Given the description of an element on the screen output the (x, y) to click on. 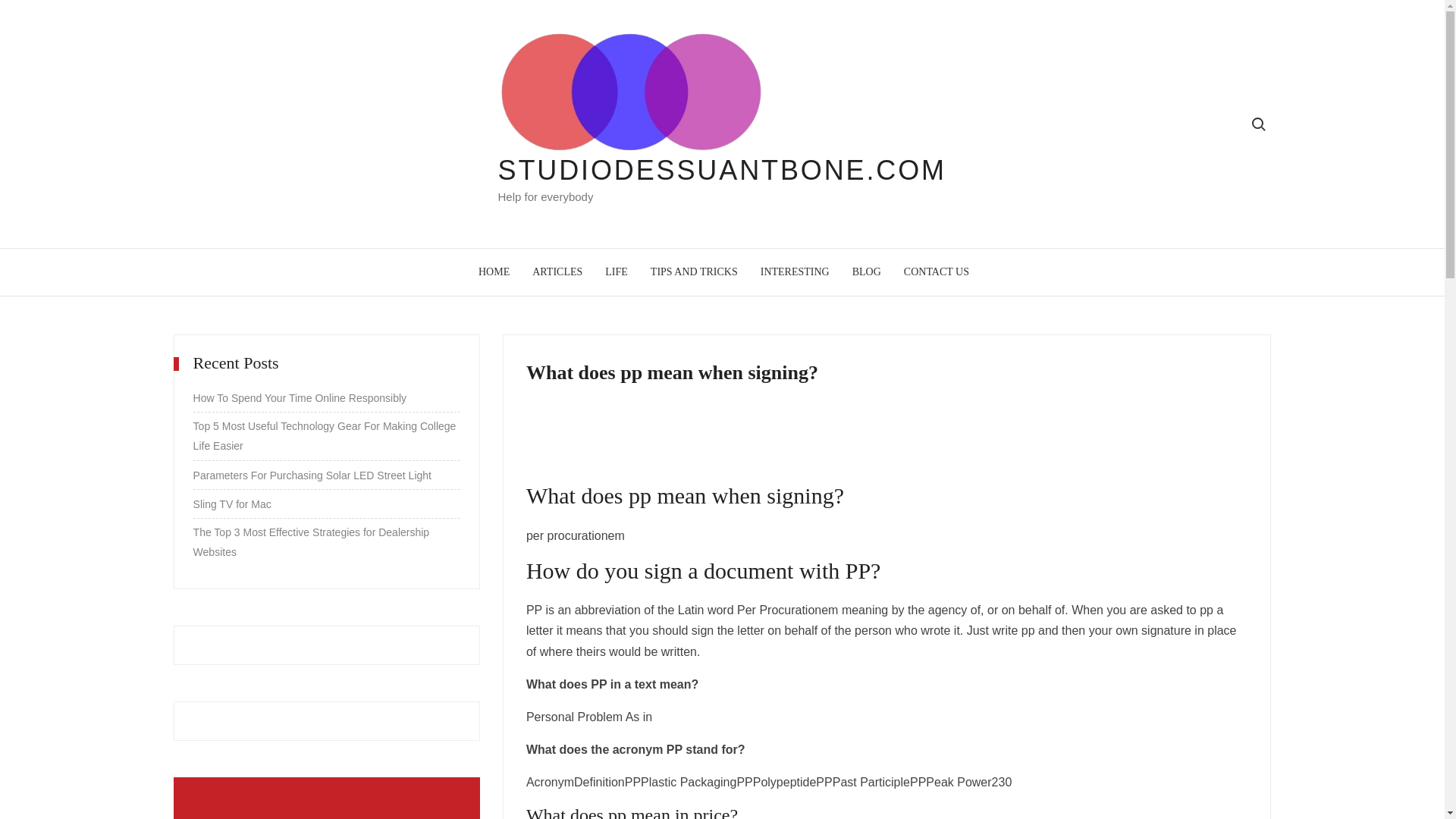
TIPS AND TRICKS (694, 272)
Search for: (1257, 124)
LIFE (616, 272)
ARTICLES (557, 272)
HOME (494, 272)
INTERESTING (795, 272)
CONTACT US (935, 272)
BLOG (866, 272)
STUDIODESSUANTBONE.COM (721, 169)
